Given the description of an element on the screen output the (x, y) to click on. 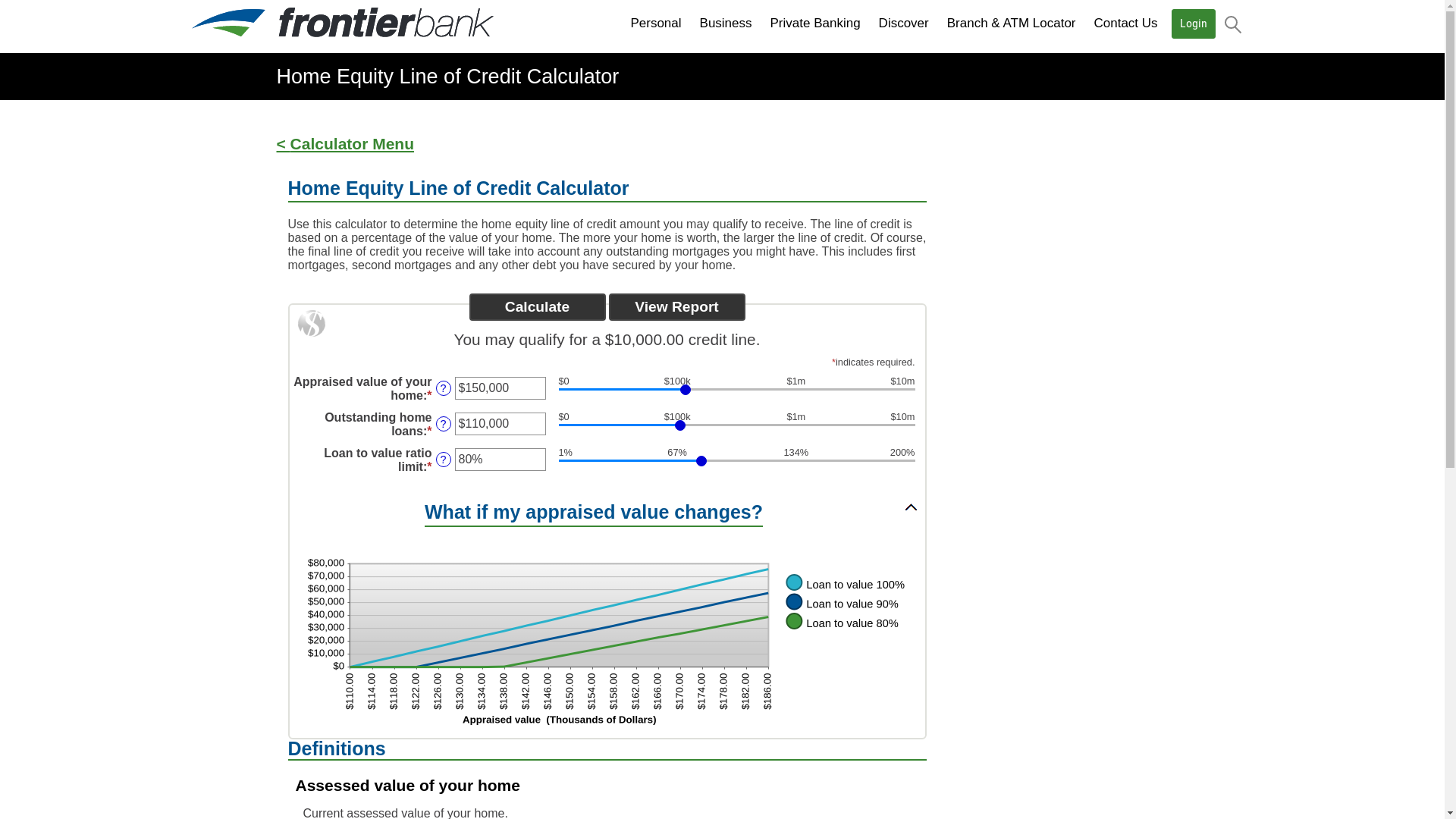
Loan to value ratio limit slider Element type: hover (736, 463)
Private Banking
(opens in a new window) Element type: text (815, 23)
Outstanding home loans slider Element type: hover (736, 427)
Branch & ATM Locator Element type: text (1011, 23)
? Element type: text (442, 459)
Frontier Bank Element type: text (341, 22)
? Element type: text (442, 387)
Appraised value of your home slider Element type: hover (736, 391)
Login Element type: text (1193, 23)
Business Element type: text (725, 23)
Personal Element type: text (655, 23)
? Element type: text (442, 423)
Contact Us Element type: text (1125, 23)
< Calculator Menu Element type: text (344, 143)
